Given the description of an element on the screen output the (x, y) to click on. 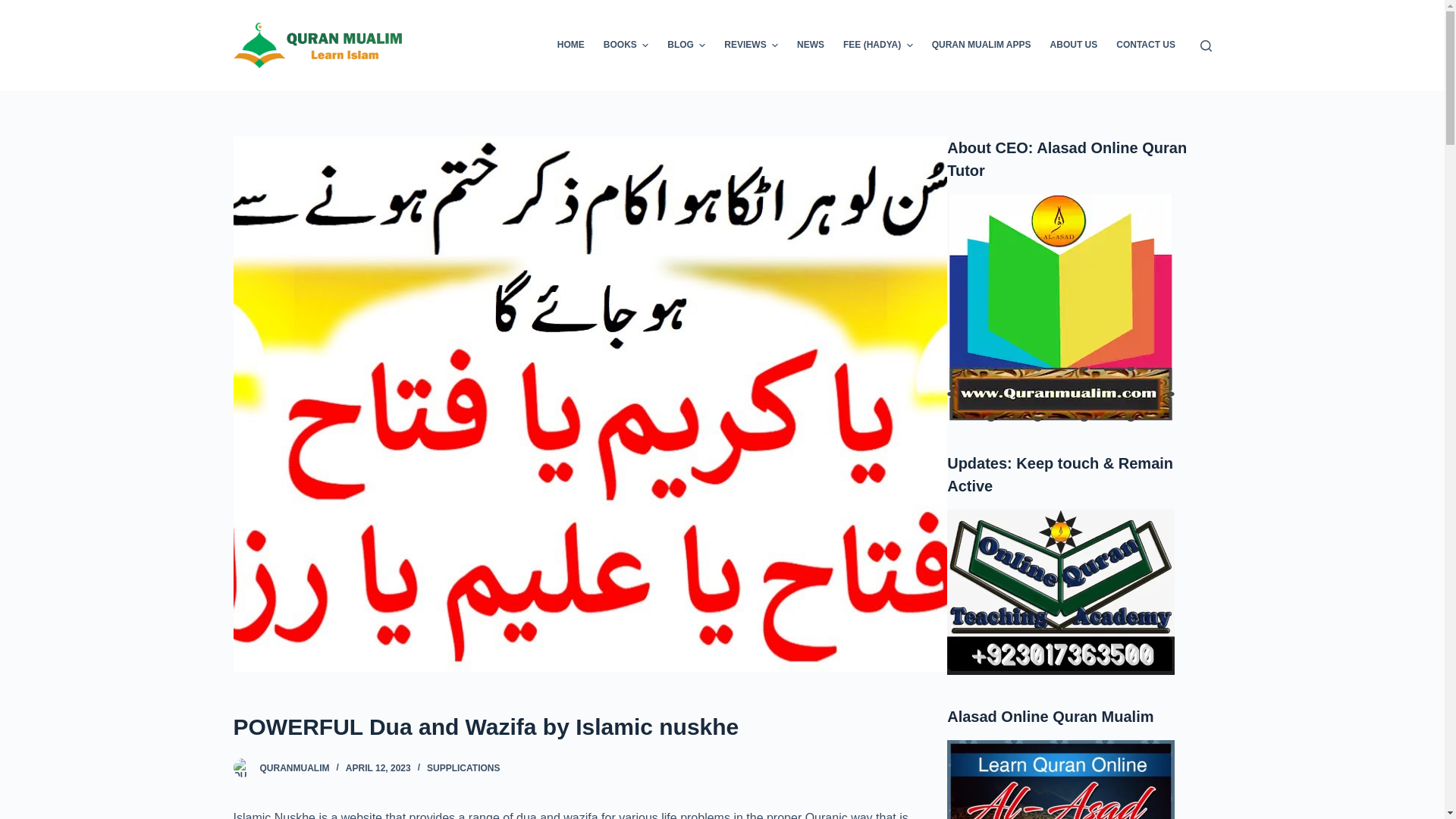
POWERFUL Dua and Wazifa by Islamic nuskhe (589, 726)
Skip to content (15, 7)
About CEO (1060, 307)
Alasad Online Quran Mualim (1060, 779)
Posts by quranmualim (294, 767)
